Given the description of an element on the screen output the (x, y) to click on. 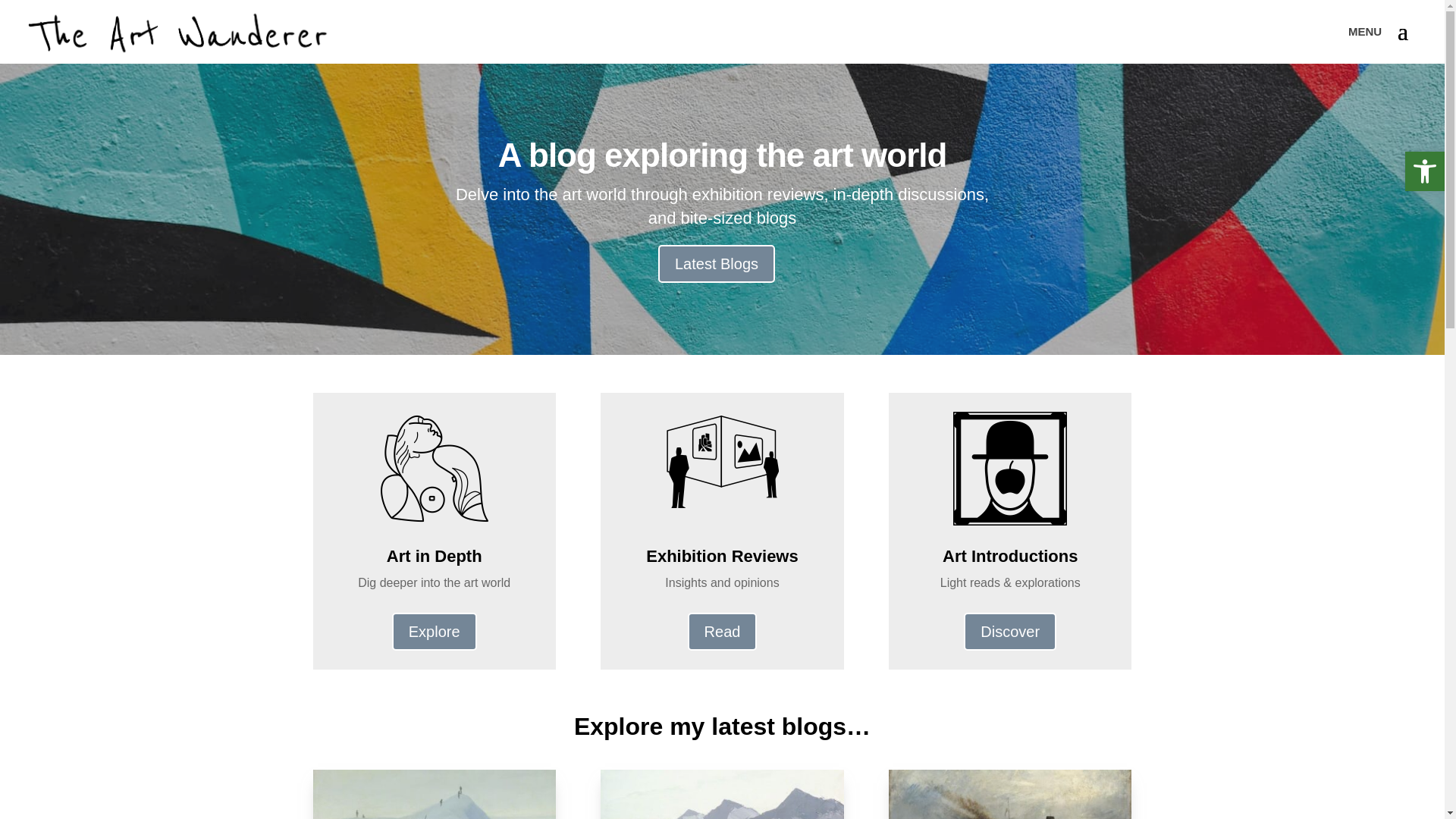
Latest Blogs (716, 263)
Read (722, 631)
Discover (1010, 631)
Art Introductions (1009, 556)
Explore (434, 631)
Exhibition Reviews (721, 556)
Art in Depth (434, 556)
